Given the description of an element on the screen output the (x, y) to click on. 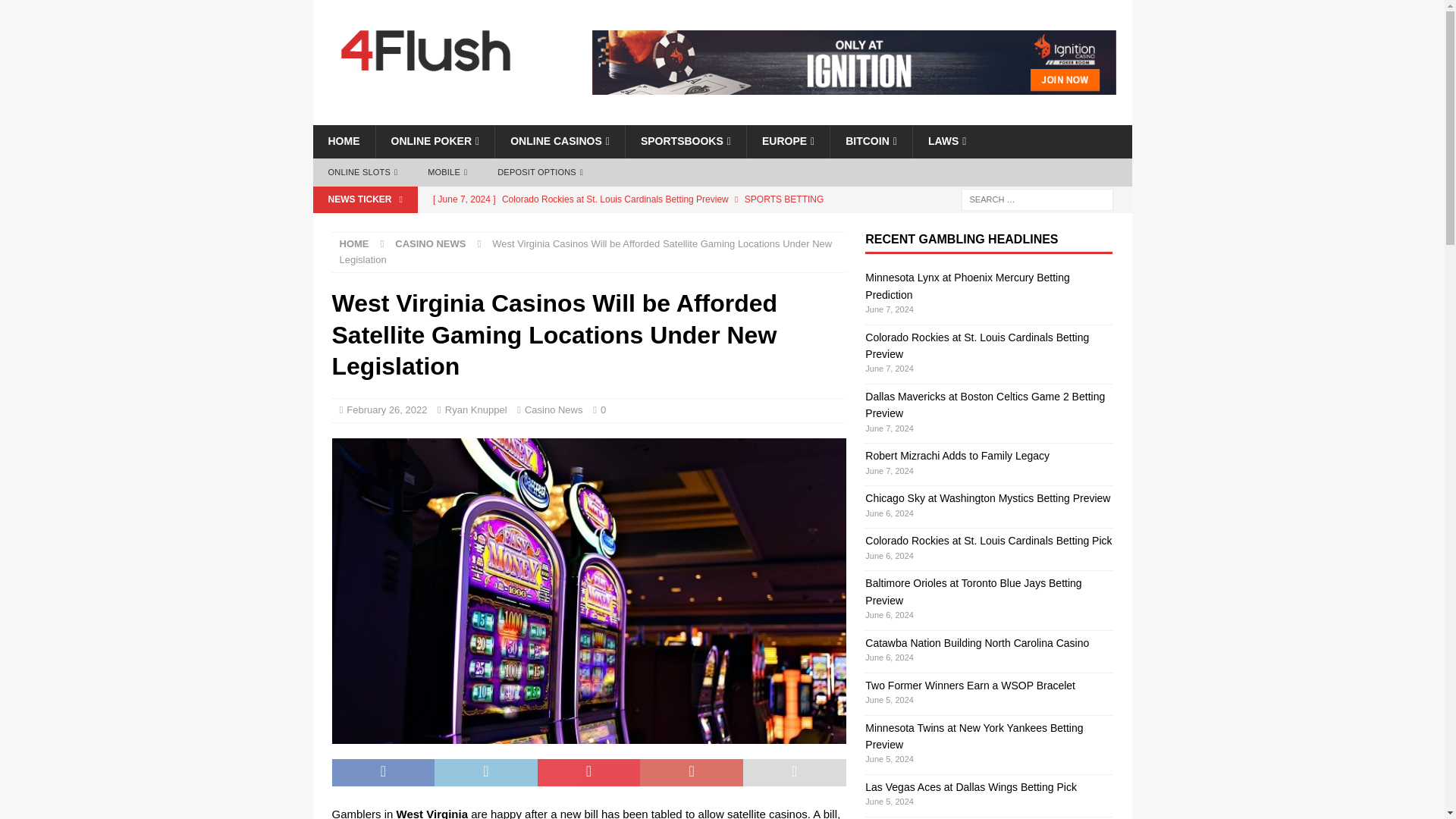
Bitcoin Gambling (870, 141)
Sportsbooks (684, 141)
Dallas Mavericks at Boston Celtics Game 2 Betting Preview (634, 237)
Online Casinos (559, 141)
Colorado Rockies at St. Louis Cardinals Betting Preview (634, 199)
Online Poker (434, 141)
European Gambling Sites (787, 141)
